Given the description of an element on the screen output the (x, y) to click on. 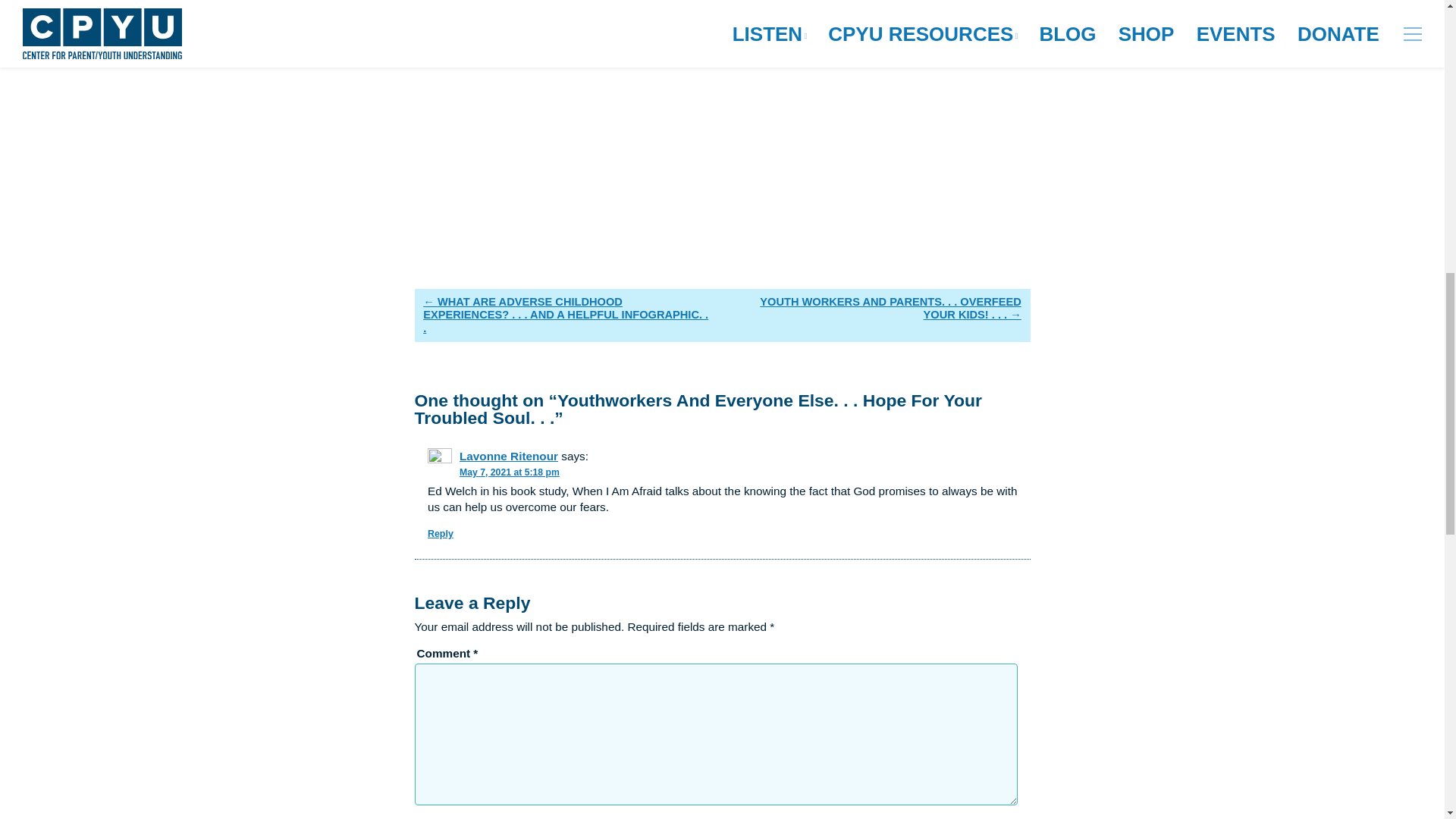
YouTube video player (625, 123)
